Given the description of an element on the screen output the (x, y) to click on. 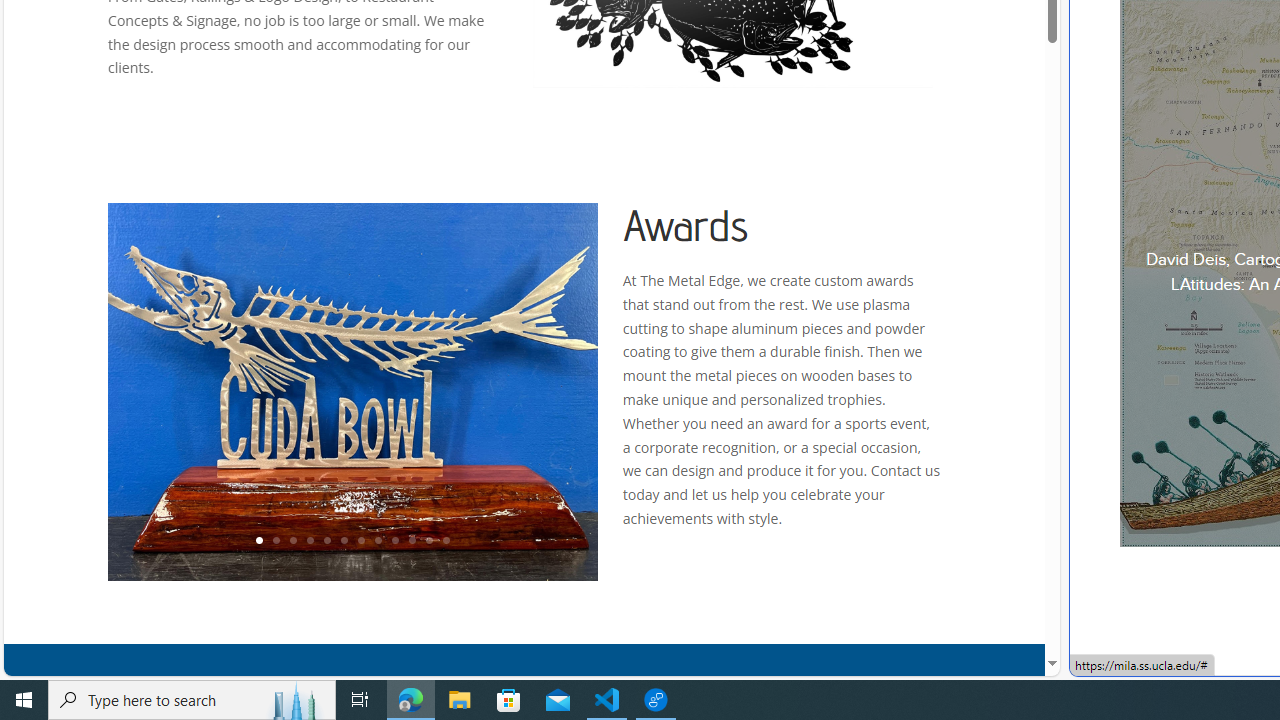
1 (258, 541)
9 (394, 541)
2 (275, 541)
5 (326, 541)
12 (445, 541)
7 (360, 541)
10 (412, 541)
11 (428, 541)
8 (377, 541)
3 (292, 541)
4 (309, 541)
6 (344, 541)
